Given the description of an element on the screen output the (x, y) to click on. 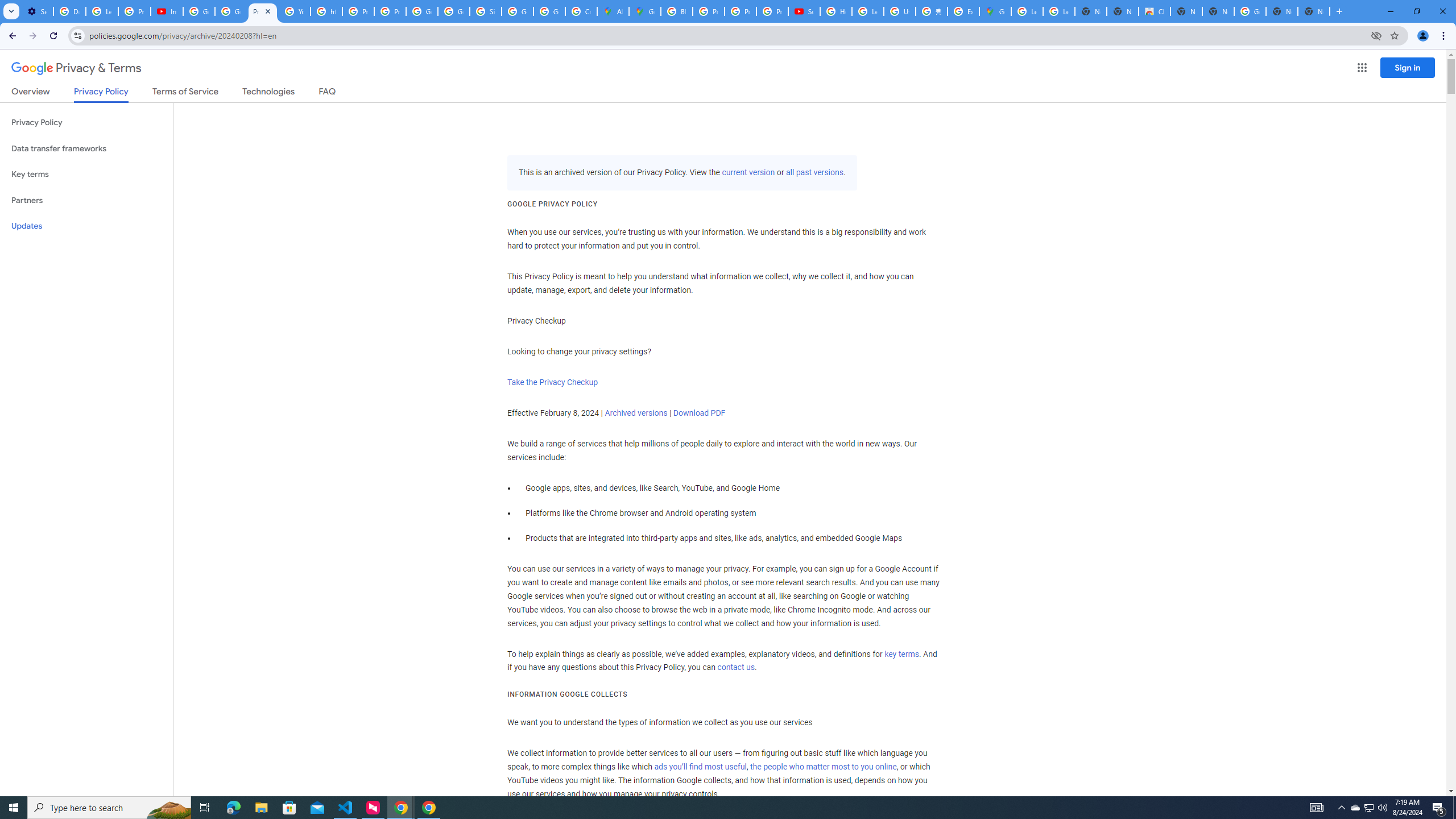
Privacy & Terms (76, 68)
Technologies (268, 93)
Google Account Help (230, 11)
Delete photos & videos - Computer - Google Photos Help (69, 11)
Key terms (86, 174)
Download PDF (698, 412)
Privacy Help Center - Policies Help (708, 11)
https://scholar.google.com/ (326, 11)
Google Images (1249, 11)
